Given the description of an element on the screen output the (x, y) to click on. 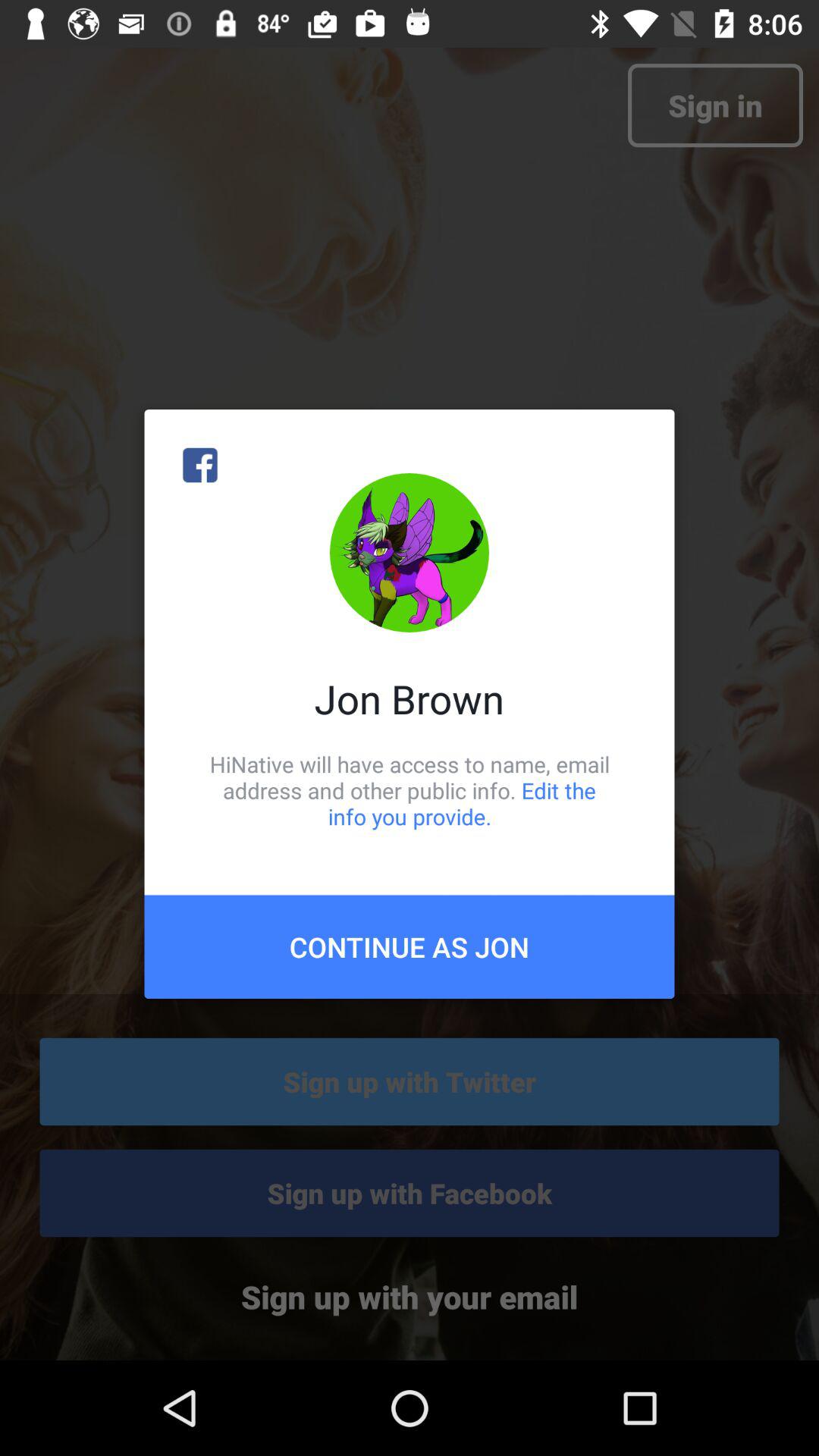
choose the icon below jon brown item (409, 790)
